Given the description of an element on the screen output the (x, y) to click on. 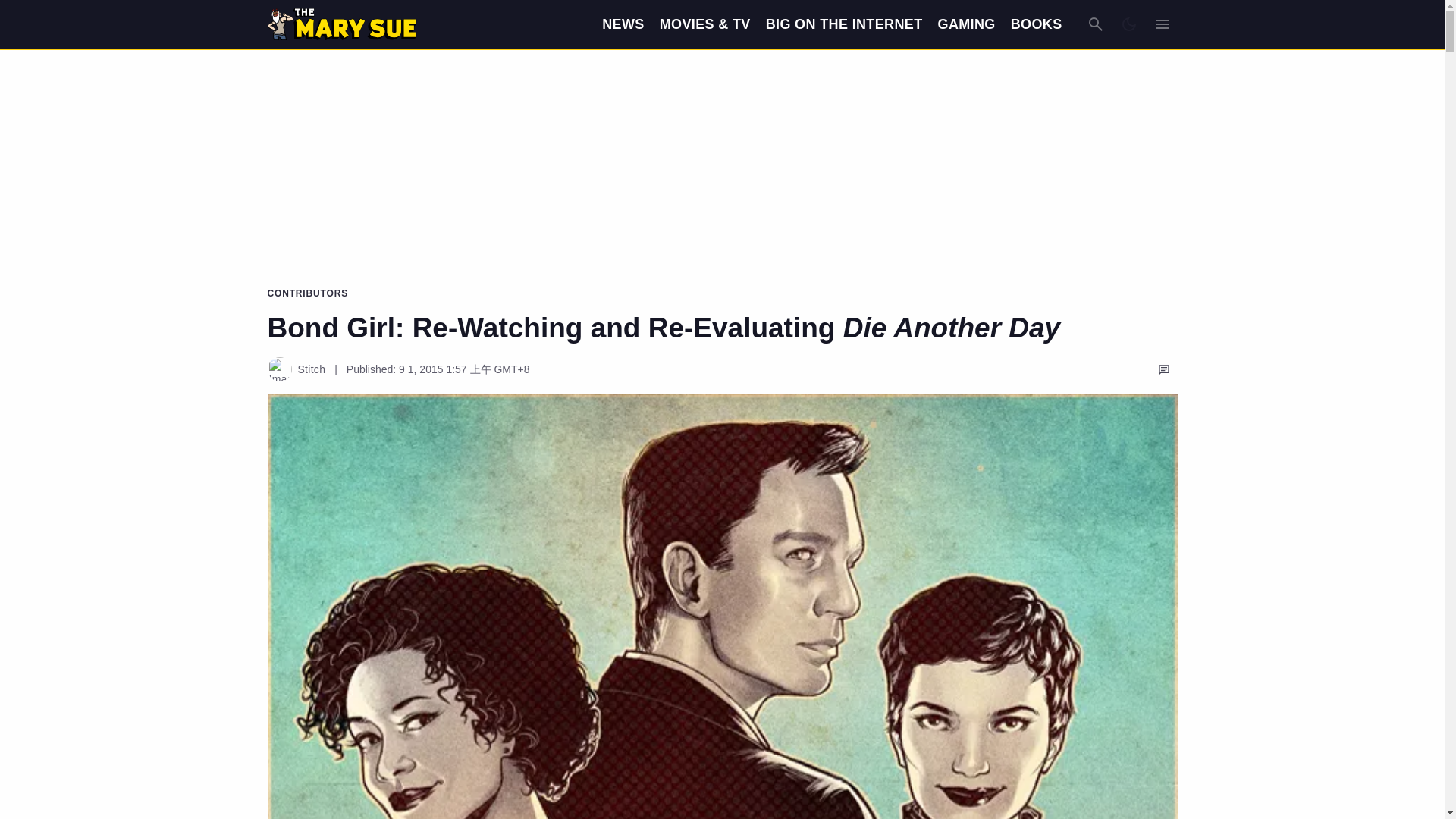
NEWS (622, 23)
BIG ON THE INTERNET (844, 23)
BOOKS (1036, 23)
Expand Menu (1161, 24)
Dark Mode (1127, 24)
GAMING (966, 23)
Search (1094, 24)
